Given the description of an element on the screen output the (x, y) to click on. 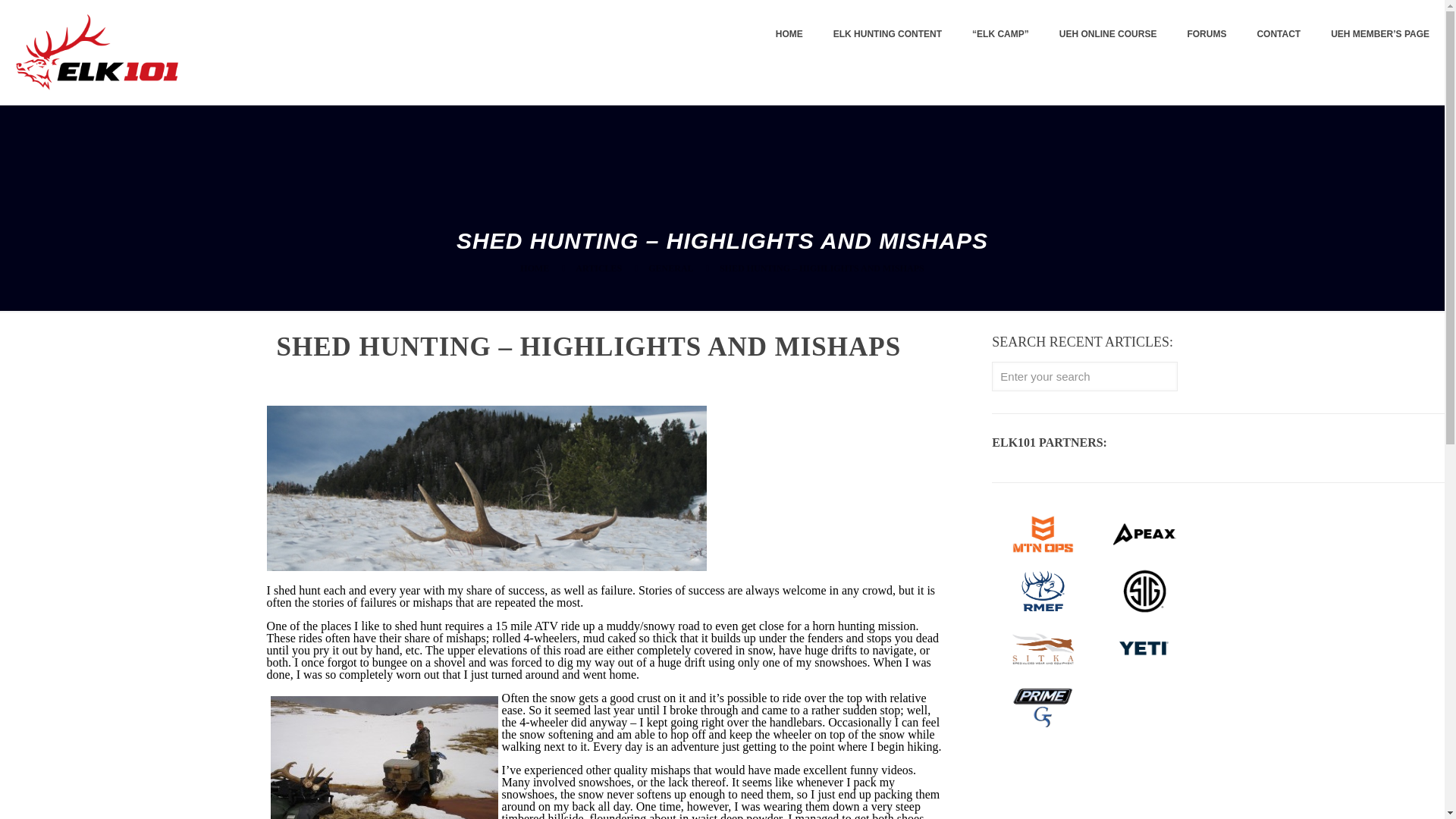
ELK HUNTING CONTENT (887, 33)
UEH ONLINE COURSE (1107, 33)
CONTACT (1278, 33)
HOME (533, 267)
FORUMS (1206, 33)
ARTICLES (598, 267)
GENERAL (670, 267)
